Given the description of an element on the screen output the (x, y) to click on. 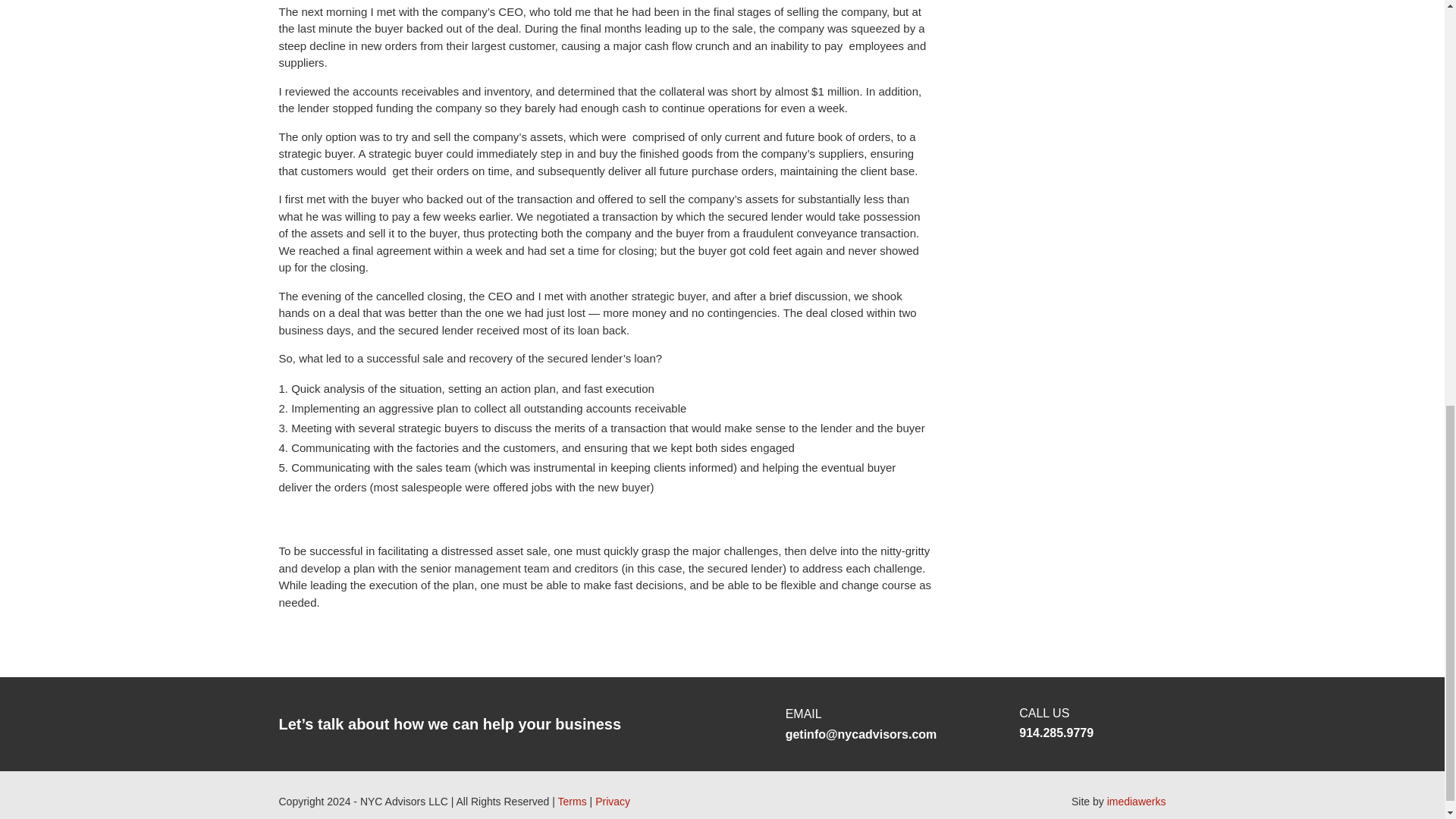
imediawerks (1136, 801)
Privacy (612, 801)
Terms (571, 801)
